Given the description of an element on the screen output the (x, y) to click on. 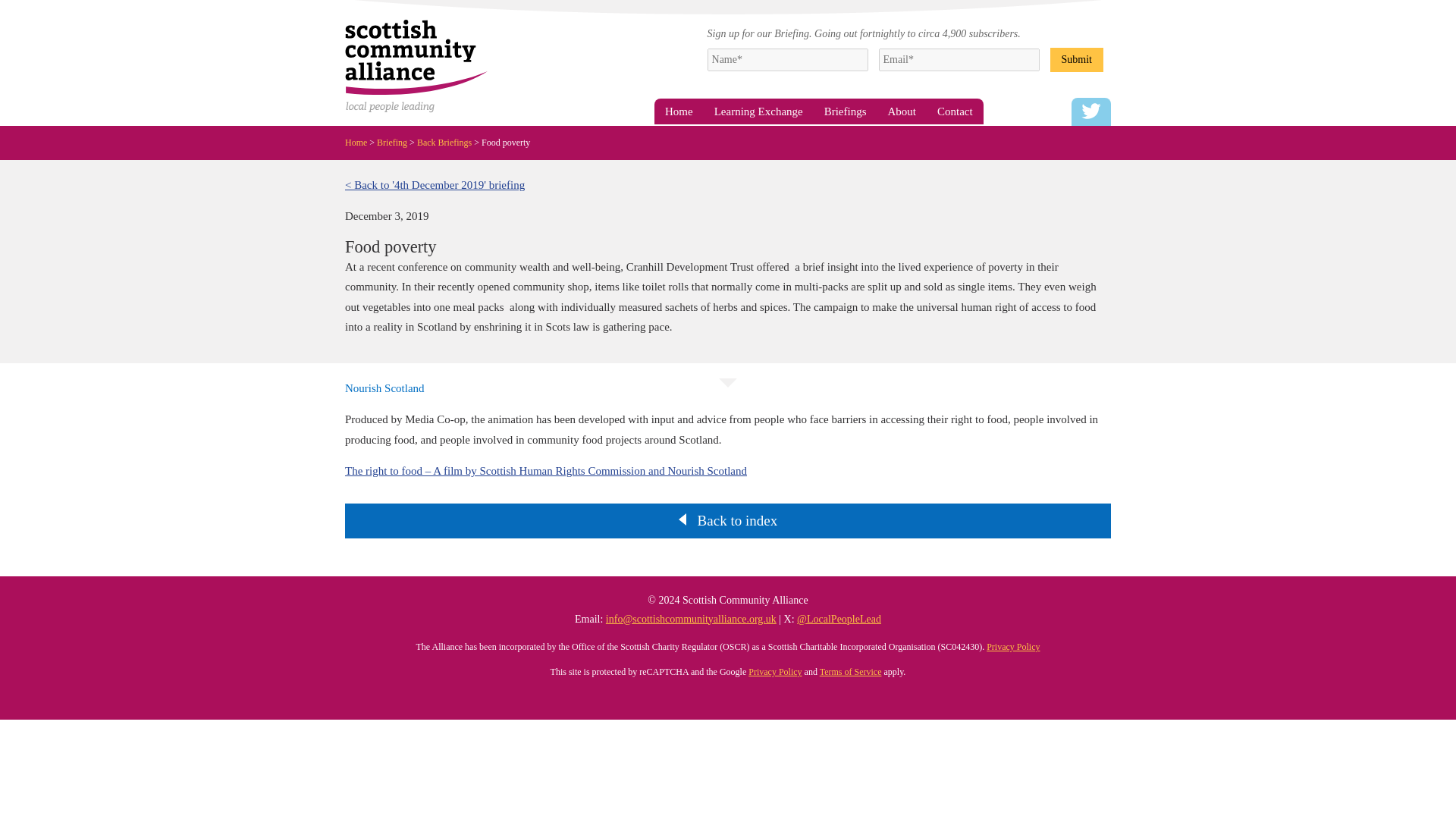
Submit (1076, 58)
Home (678, 111)
Home (361, 141)
About (902, 111)
Contact (955, 111)
Go to Scottish Community Alliance. (361, 141)
Briefing (396, 141)
Submit (1076, 58)
Go to Back Briefings. (448, 141)
Back Briefings (448, 141)
Go to Briefing. (396, 141)
Briefings (845, 111)
Learning Exchange (758, 111)
Back to index (737, 520)
